Given the description of an element on the screen output the (x, y) to click on. 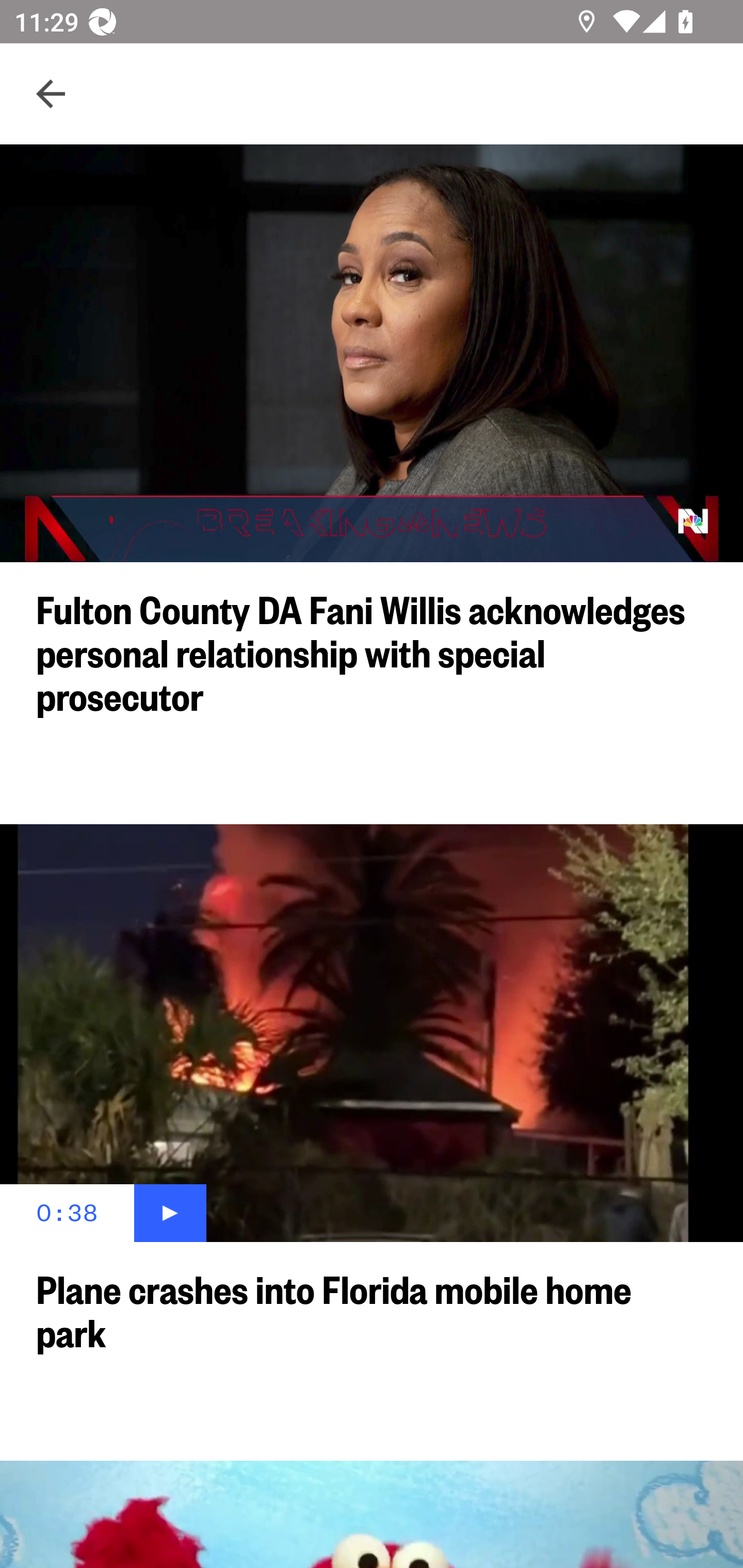
Navigate up (50, 93)
